Given the description of an element on the screen output the (x, y) to click on. 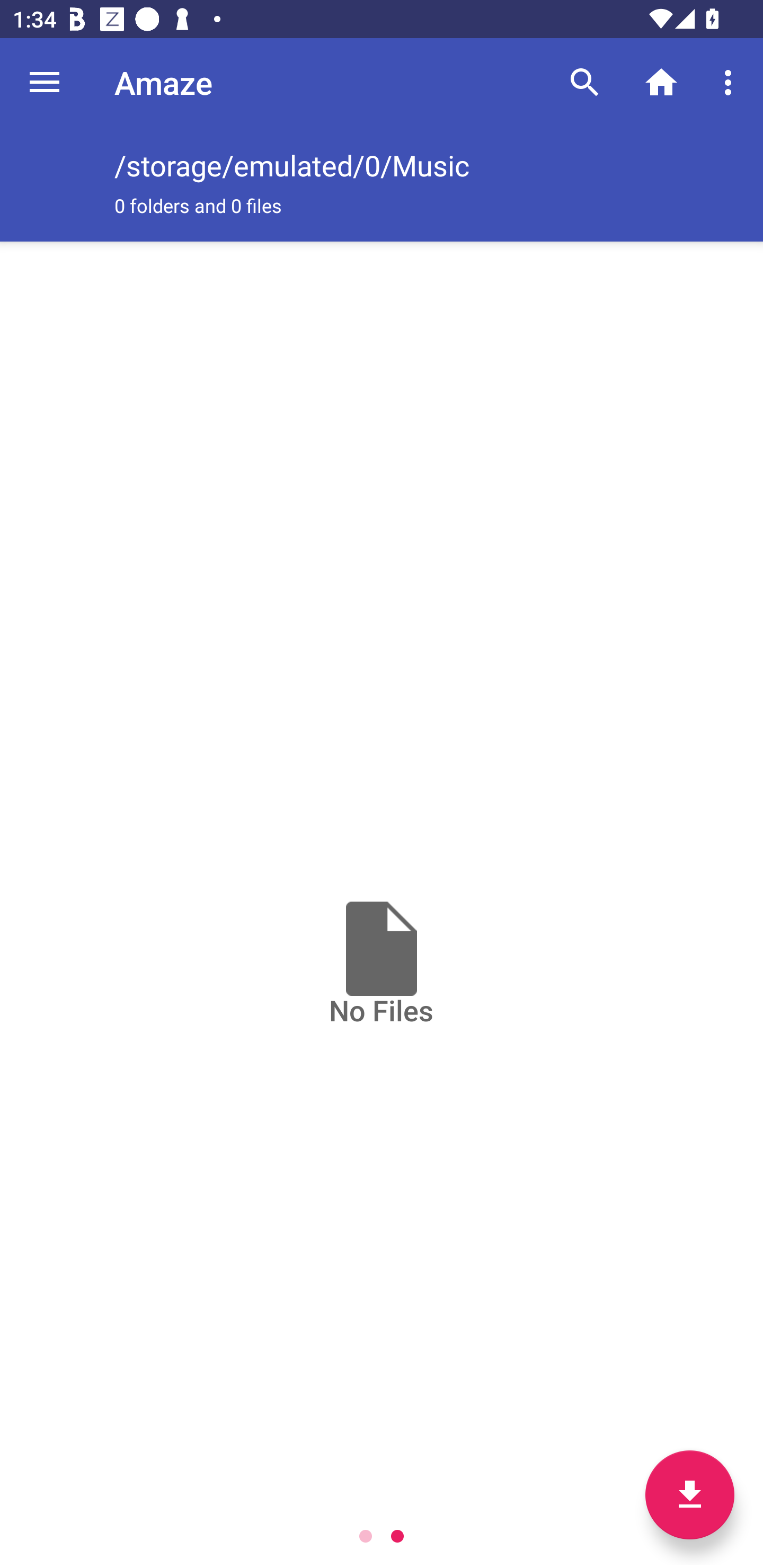
Navigate up (44, 82)
Search (585, 81)
Home (661, 81)
More options (731, 81)
